Given the description of an element on the screen output the (x, y) to click on. 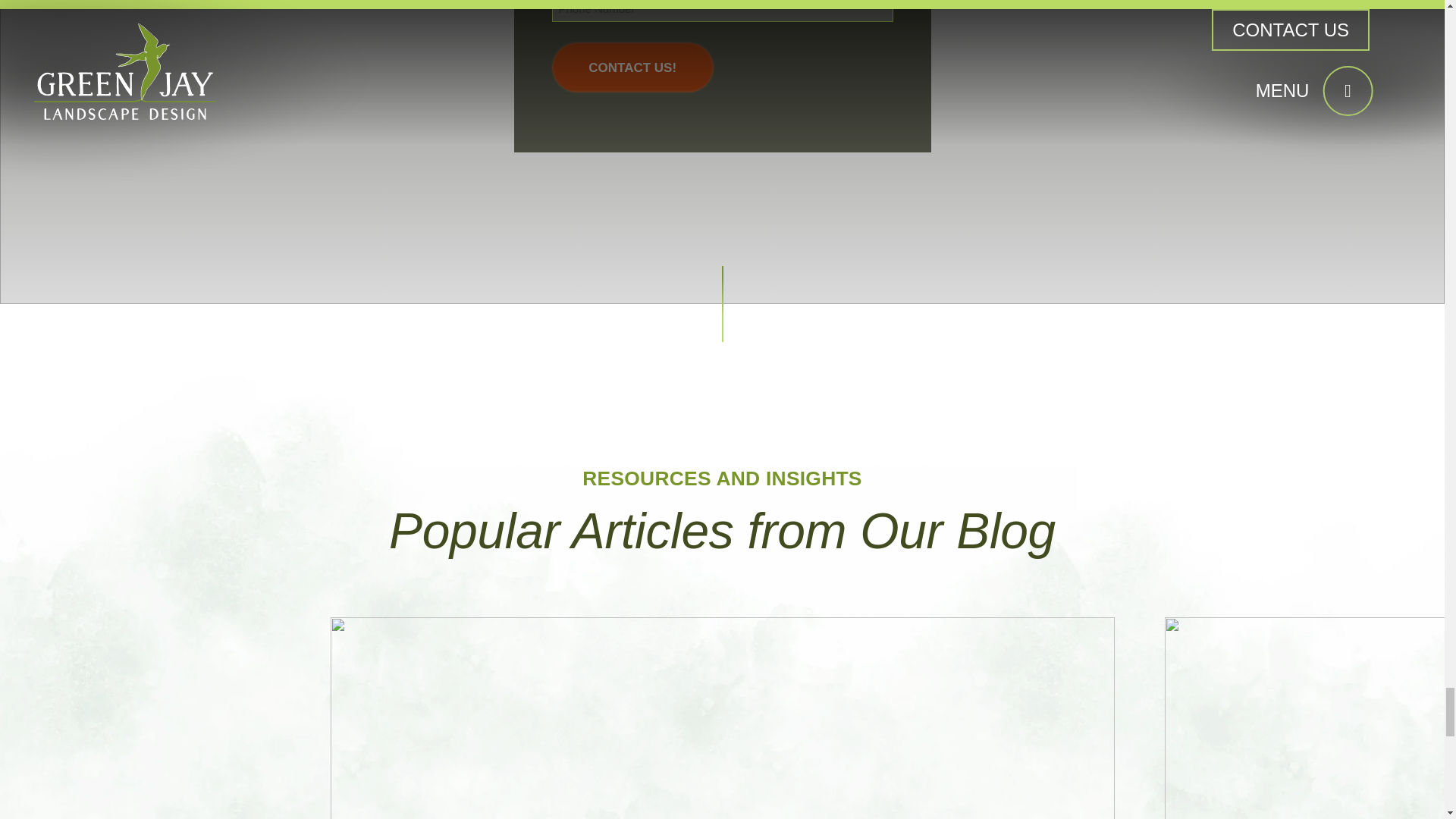
Contact Us! (632, 67)
